Given the description of an element on the screen output the (x, y) to click on. 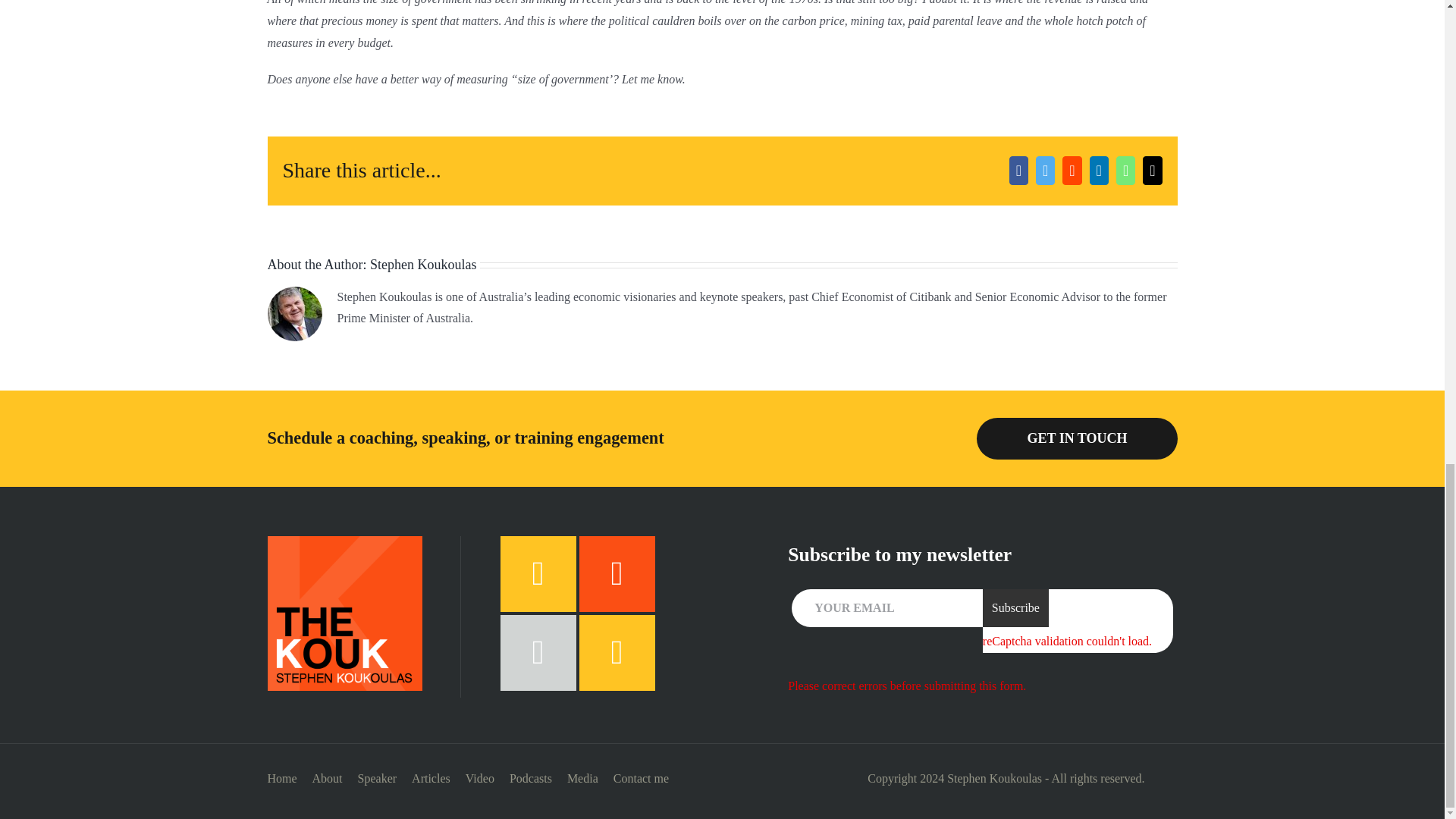
Subscribe (1015, 607)
Posts by Stephen Koukoulas (422, 264)
